Given the description of an element on the screen output the (x, y) to click on. 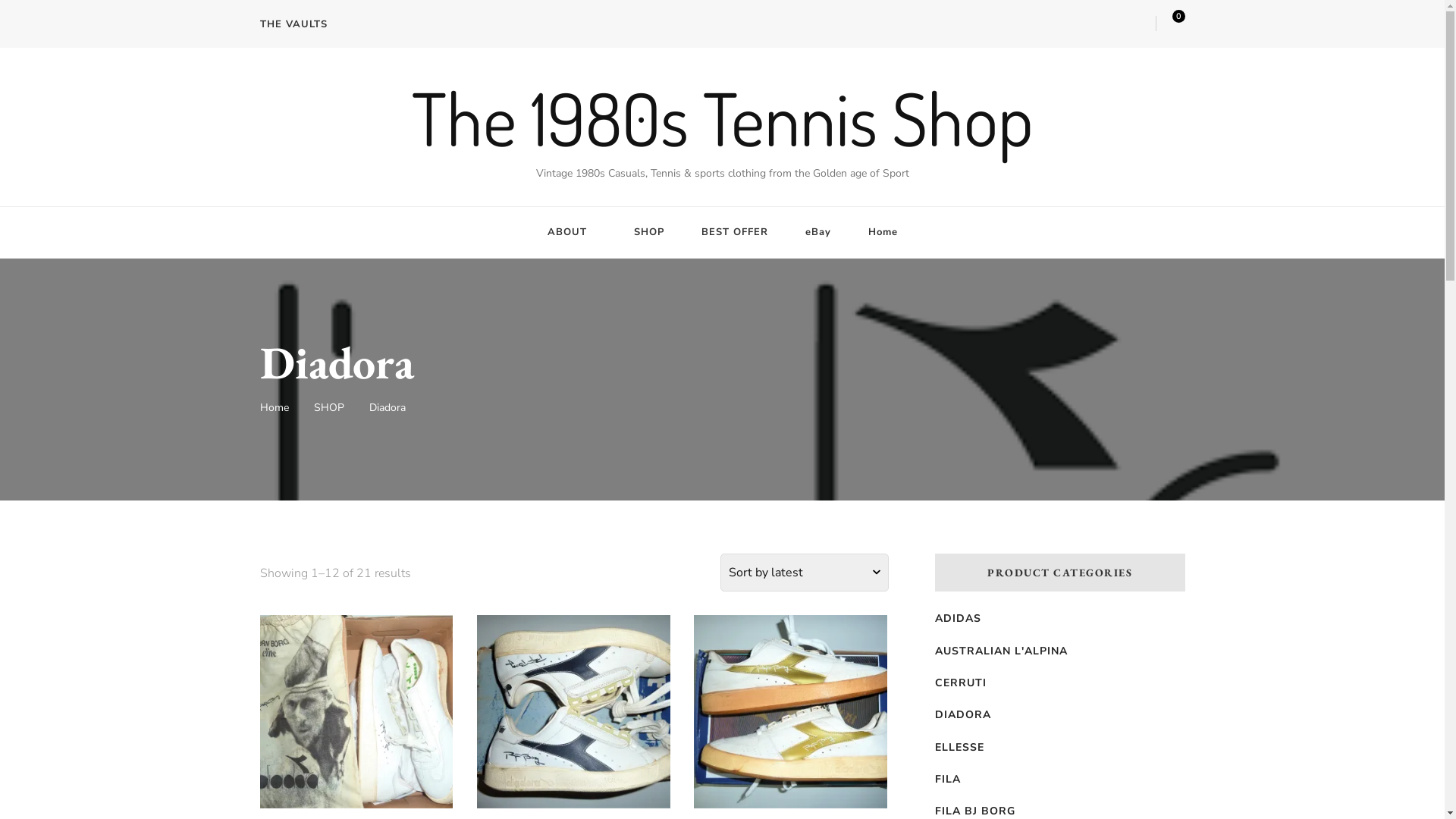
Home Element type: text (273, 408)
Home Element type: text (881, 232)
0 Element type: text (1181, 19)
FILA Element type: text (947, 779)
Diadora Element type: text (386, 408)
eBay Element type: text (817, 232)
ELLESSE Element type: text (958, 747)
BEST OFFER Element type: text (734, 232)
The 1980s Tennis Shop Element type: text (721, 117)
SHOP Element type: text (328, 408)
DIADORA Element type: text (962, 714)
CERRUTI Element type: text (959, 682)
SHOP Element type: text (648, 232)
AUSTRALIAN L'ALPINA Element type: text (1000, 651)
ADIDAS Element type: text (957, 618)
Search Element type: text (1134, 27)
THE VAULTS Element type: text (298, 24)
ABOUT Element type: text (571, 232)
